Given the description of an element on the screen output the (x, y) to click on. 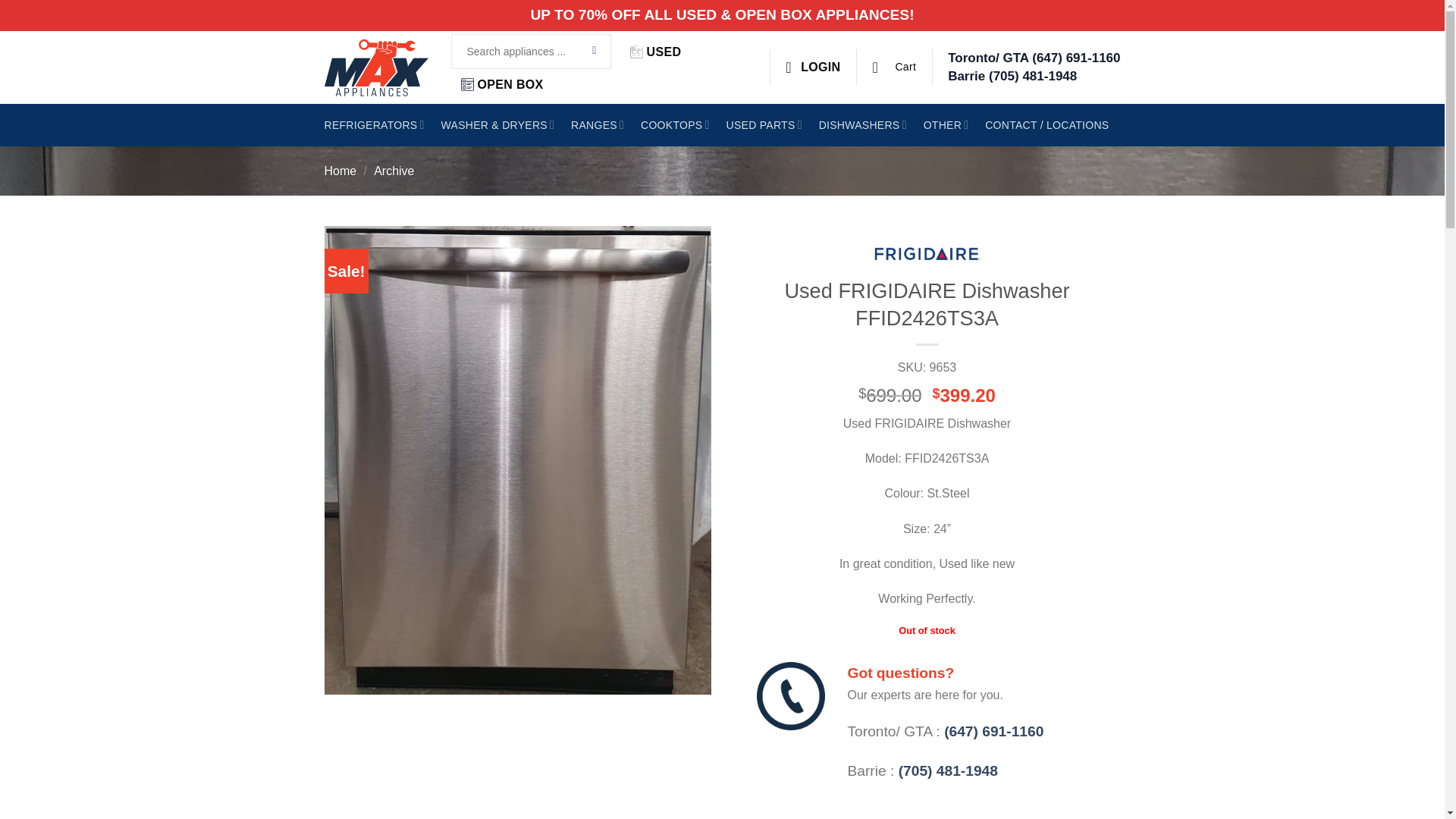
REFRIGERATORS (374, 125)
Max Appliances - Used Appliances Sale (376, 67)
USED (655, 51)
Cart (893, 67)
RANGES (597, 125)
Login (813, 67)
Used FRIGIDAIRE Dishwasher FFID2426TS3A (791, 695)
Search (594, 51)
OPEN BOX (502, 83)
